Given the description of an element on the screen output the (x, y) to click on. 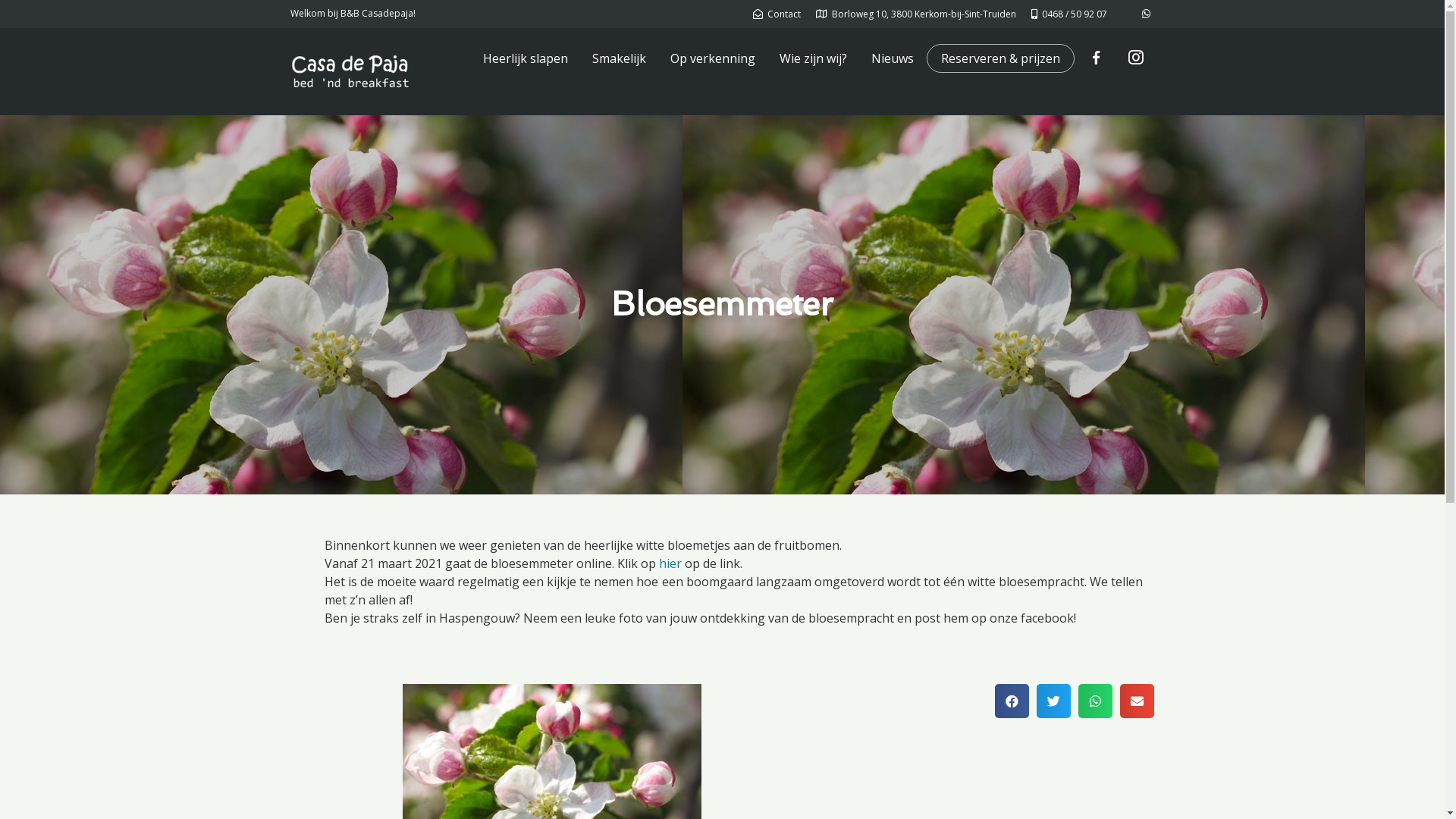
Wie zijn wij? Element type: text (813, 58)
Heerlijk slapen Element type: text (524, 58)
Borloweg 10, 3800 Kerkom-bij-Sint-Truiden Element type: text (915, 13)
hier Element type: text (671, 563)
Instagram Element type: text (1135, 58)
Reserveren & prijzen Element type: text (999, 57)
Facebook Element type: text (1095, 58)
Contact Element type: text (776, 13)
Op verkenning Element type: text (712, 58)
Smakelijk Element type: text (618, 58)
Nieuws Element type: text (891, 58)
